Given the description of an element on the screen output the (x, y) to click on. 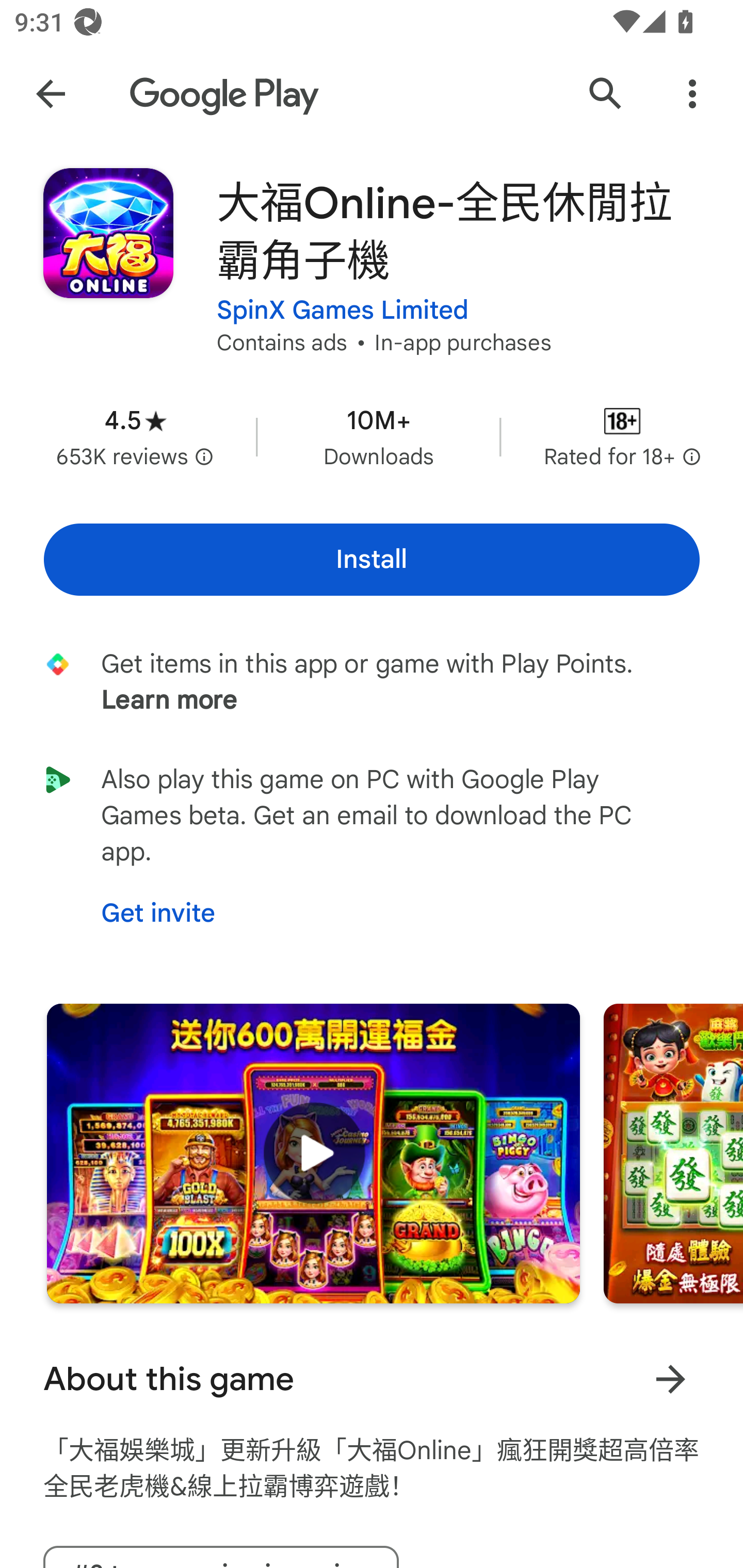
Navigate up (50, 93)
Search Google Play (605, 93)
More Options (692, 93)
SpinX Games Limited (342, 310)
Average rating 4.5 stars in 653 thousand reviews (135, 436)
Content rating Rated for 18+ (622, 436)
Install (371, 559)
Get invite (158, 913)
Play trailer for "大福Online-全民休閒拉霸角子機" (313, 1153)
About this game Learn more About this game (371, 1379)
Learn more About this game (670, 1378)
